Given the description of an element on the screen output the (x, y) to click on. 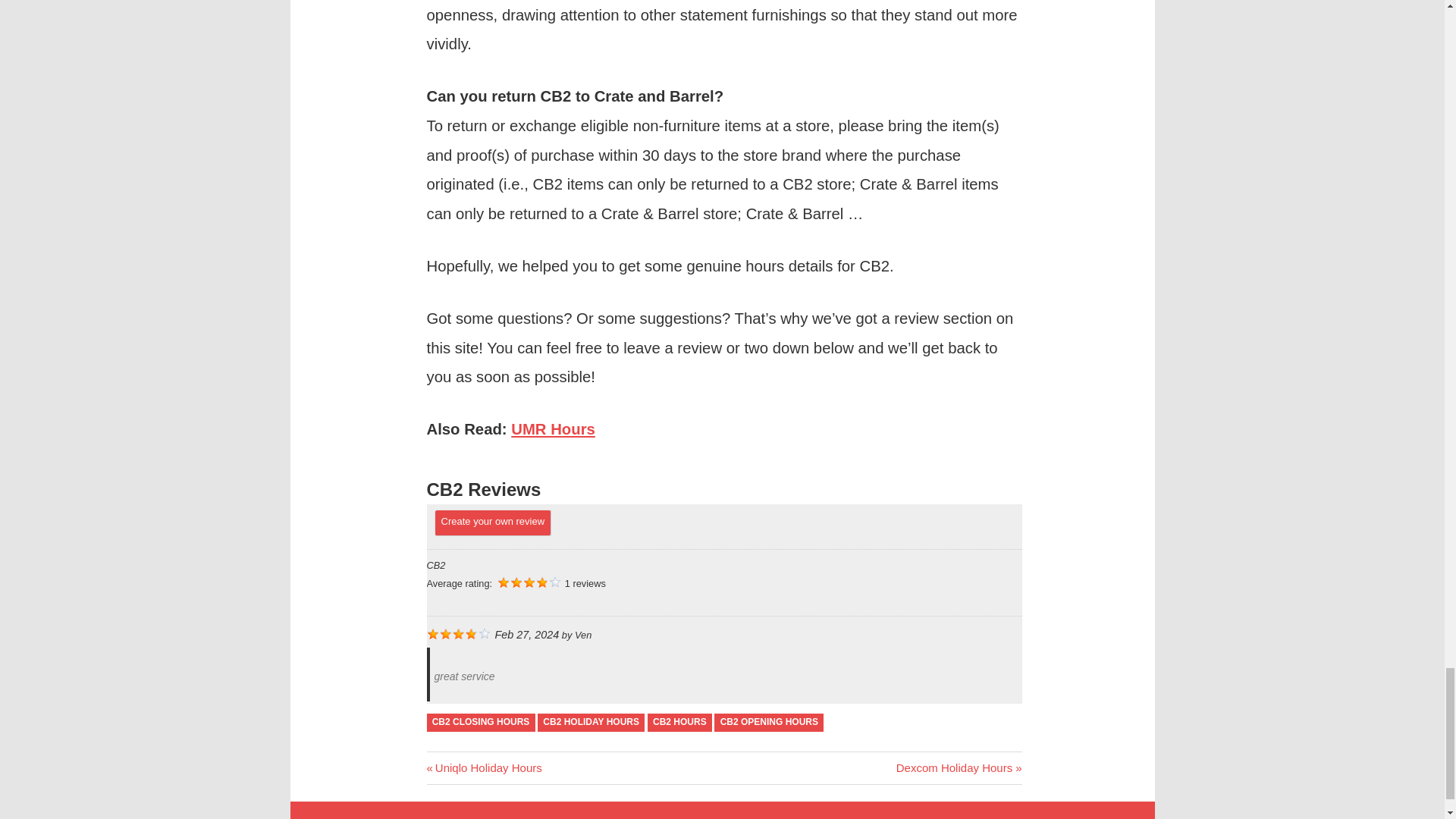
CB2 CLOSING HOURS (483, 767)
CB2 HOLIDAY HOURS (480, 722)
CB2 HOURS (591, 722)
CB2 OPENING HOURS (959, 767)
UMR Hours (679, 722)
